Given the description of an element on the screen output the (x, y) to click on. 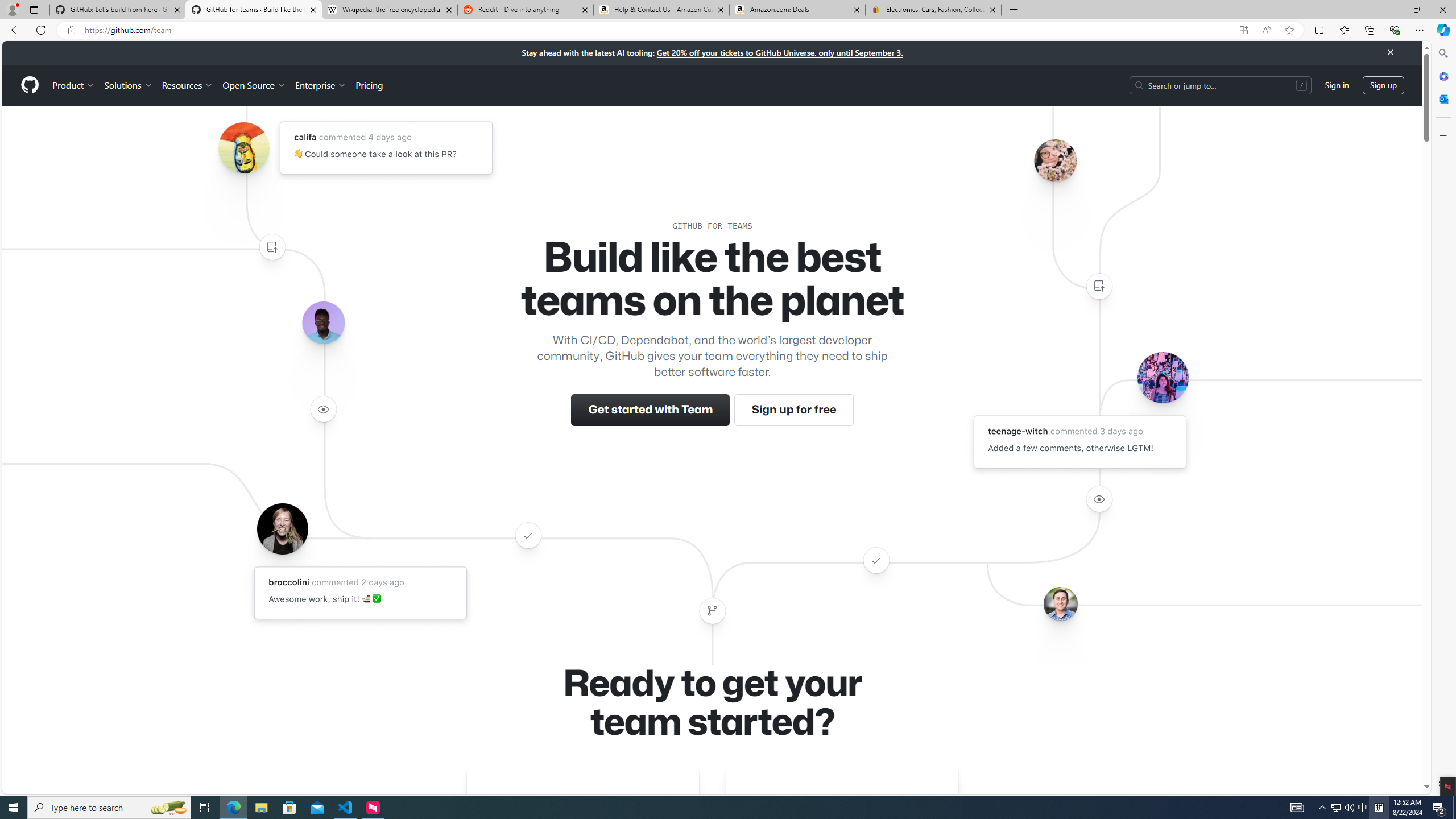
Open Source (254, 84)
Avatar of the user benbalter (1059, 604)
Product (74, 84)
Amazon.com: Deals (797, 9)
Class: color-fg-muted width-full (711, 610)
Enterprise (319, 84)
